Given the description of an element on the screen output the (x, y) to click on. 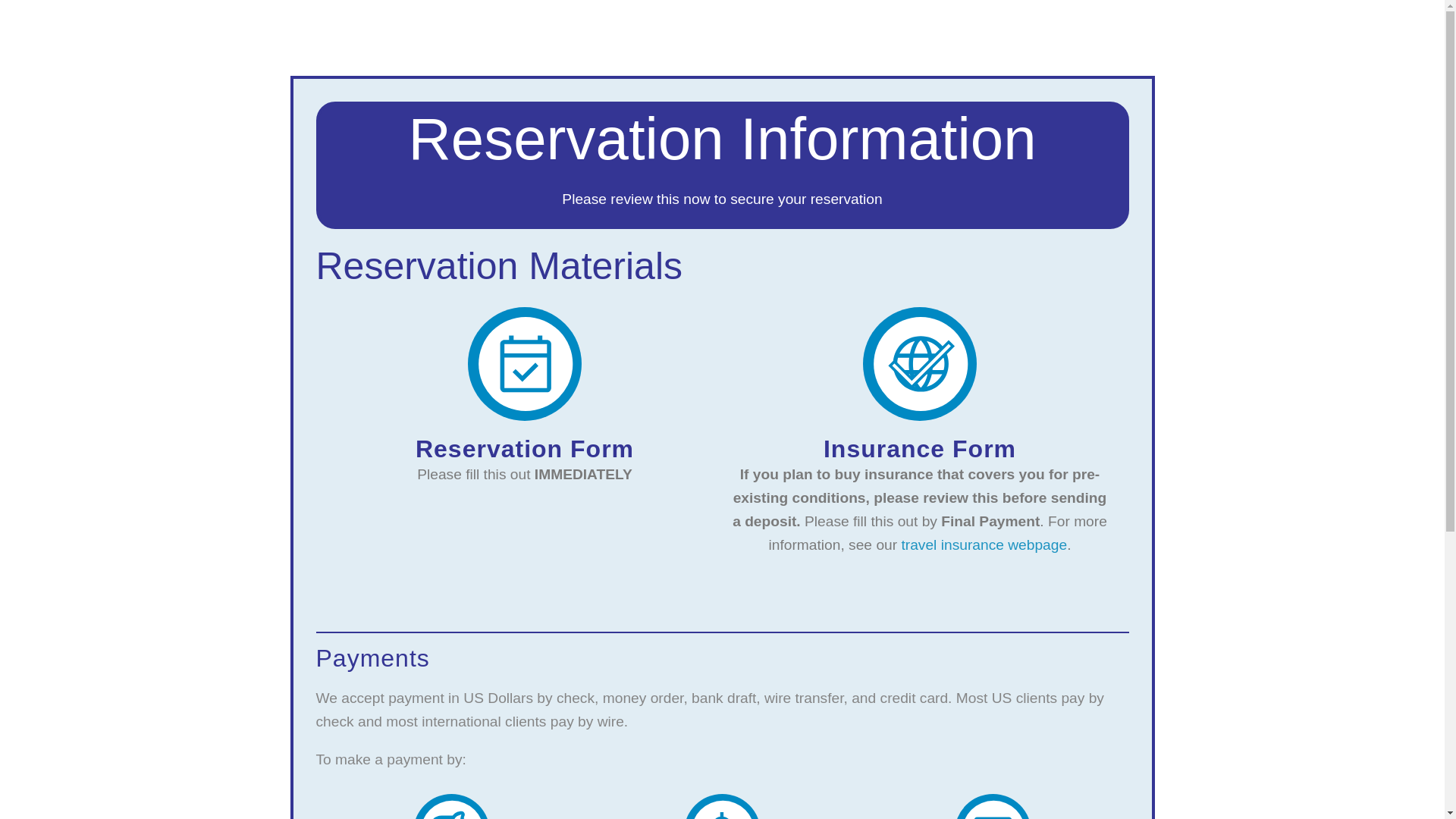
Insurance Form (920, 448)
travel insurance webpage (984, 544)
Reservation Form (523, 448)
